Given the description of an element on the screen output the (x, y) to click on. 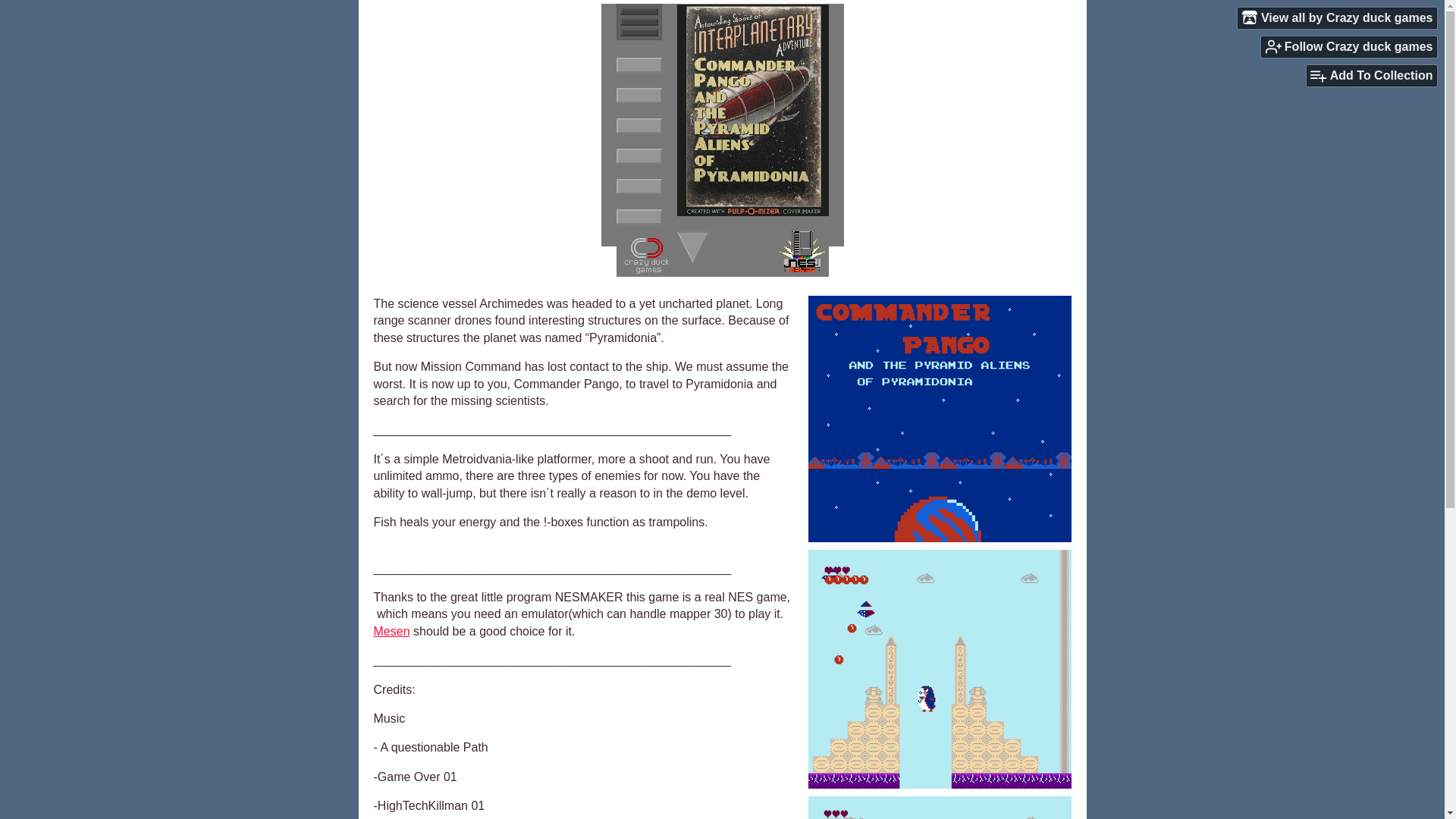
Add To Collection (1371, 75)
View all by Crazy duck games (1337, 17)
Mesen (390, 631)
Follow Crazy duck games (1348, 46)
